Given the description of an element on the screen output the (x, y) to click on. 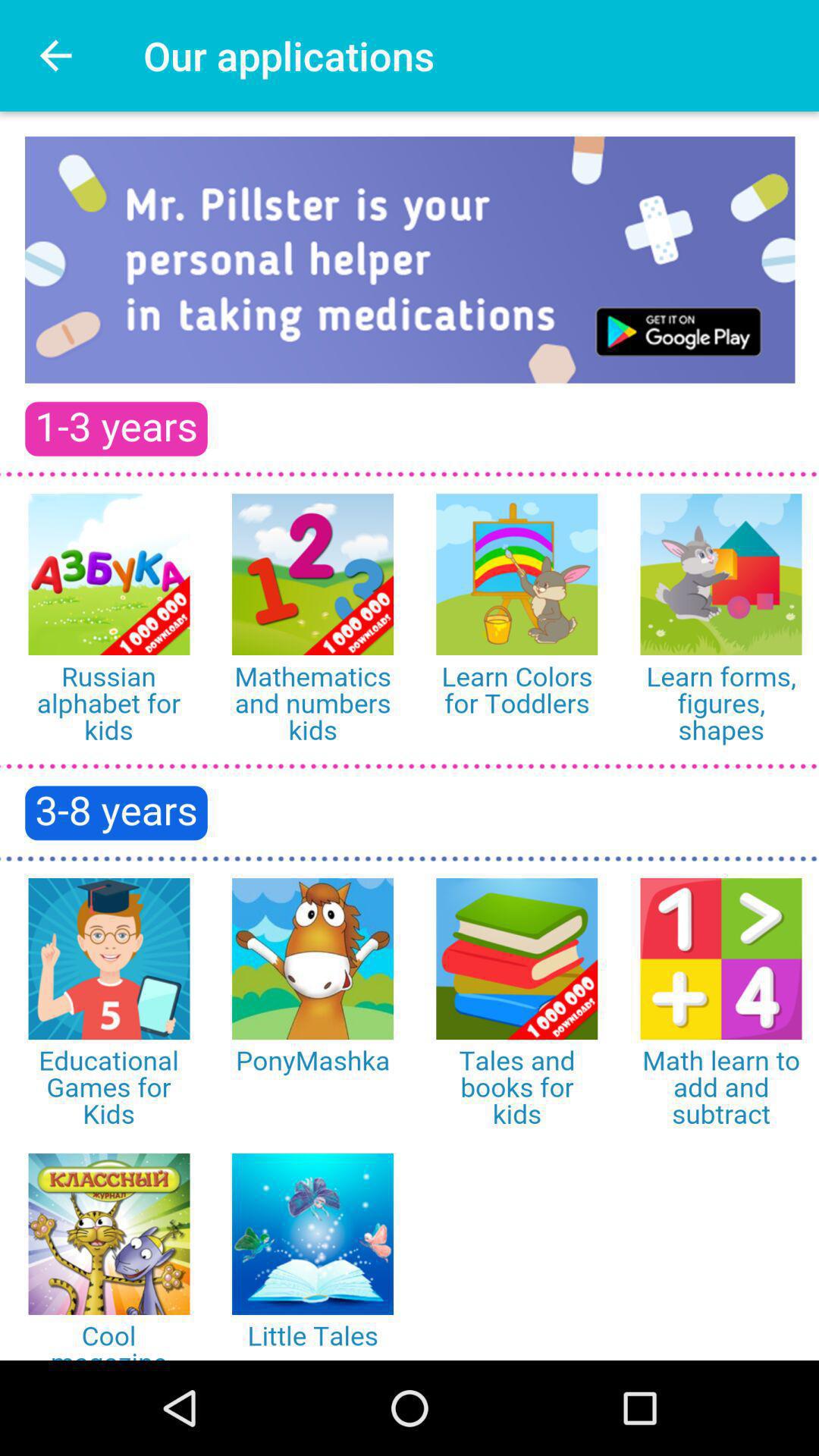
scroll through options (409, 735)
